Given the description of an element on the screen output the (x, y) to click on. 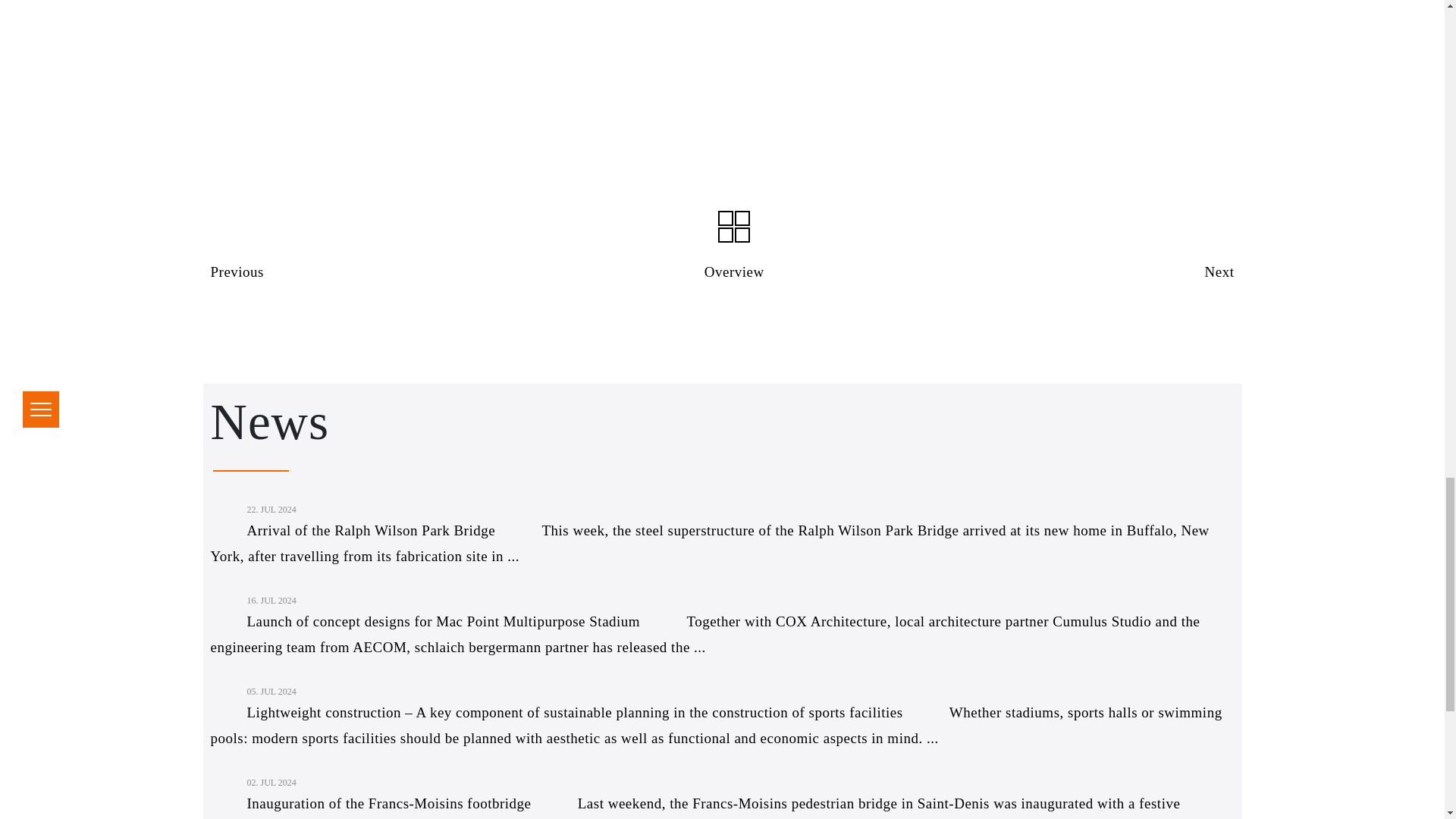
Launch of concept designs for Mac Point Multipurpose Stadium (428, 621)
Arrival of the Ralph Wilson Park Bridge (356, 530)
Inauguration of the Francs-Moisins footbridge (374, 803)
